Given the description of an element on the screen output the (x, y) to click on. 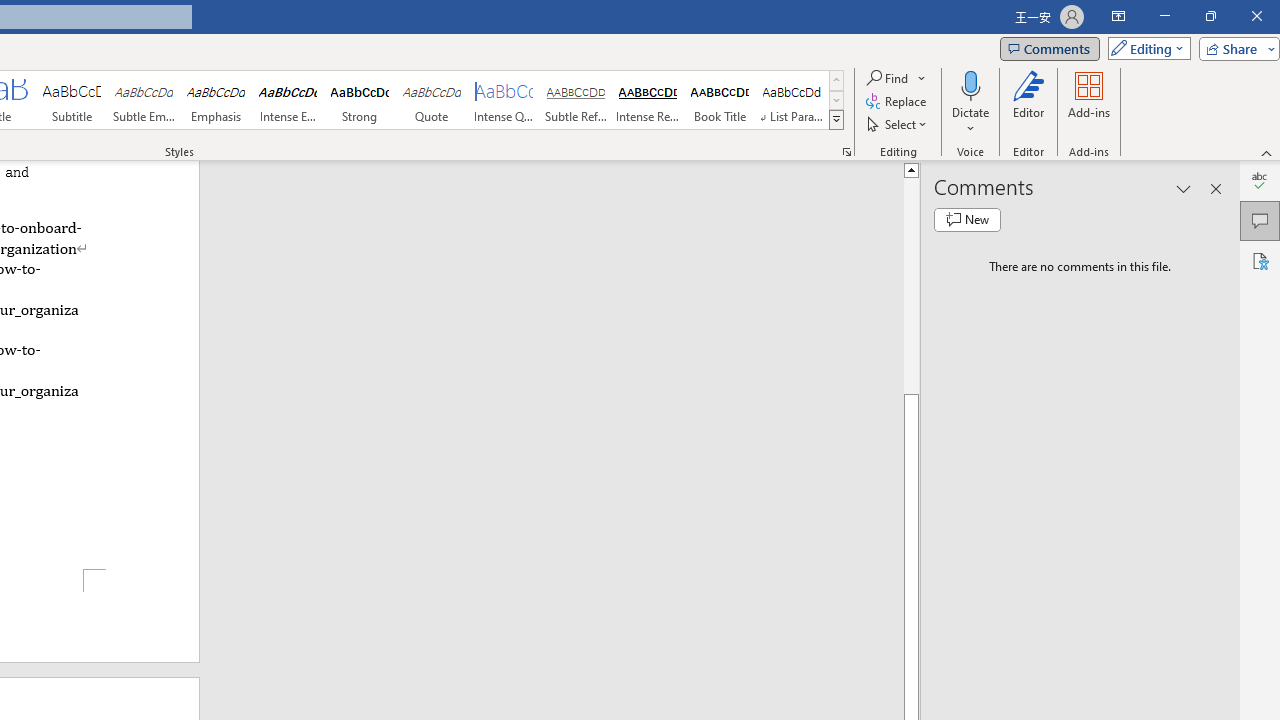
Quote (431, 100)
Emphasis (216, 100)
Line up (911, 169)
Row up (836, 79)
Page up (911, 285)
Intense Emphasis (287, 100)
Row Down (836, 100)
Book Title (719, 100)
Subtitle (71, 100)
Select (898, 124)
